Given the description of an element on the screen output the (x, y) to click on. 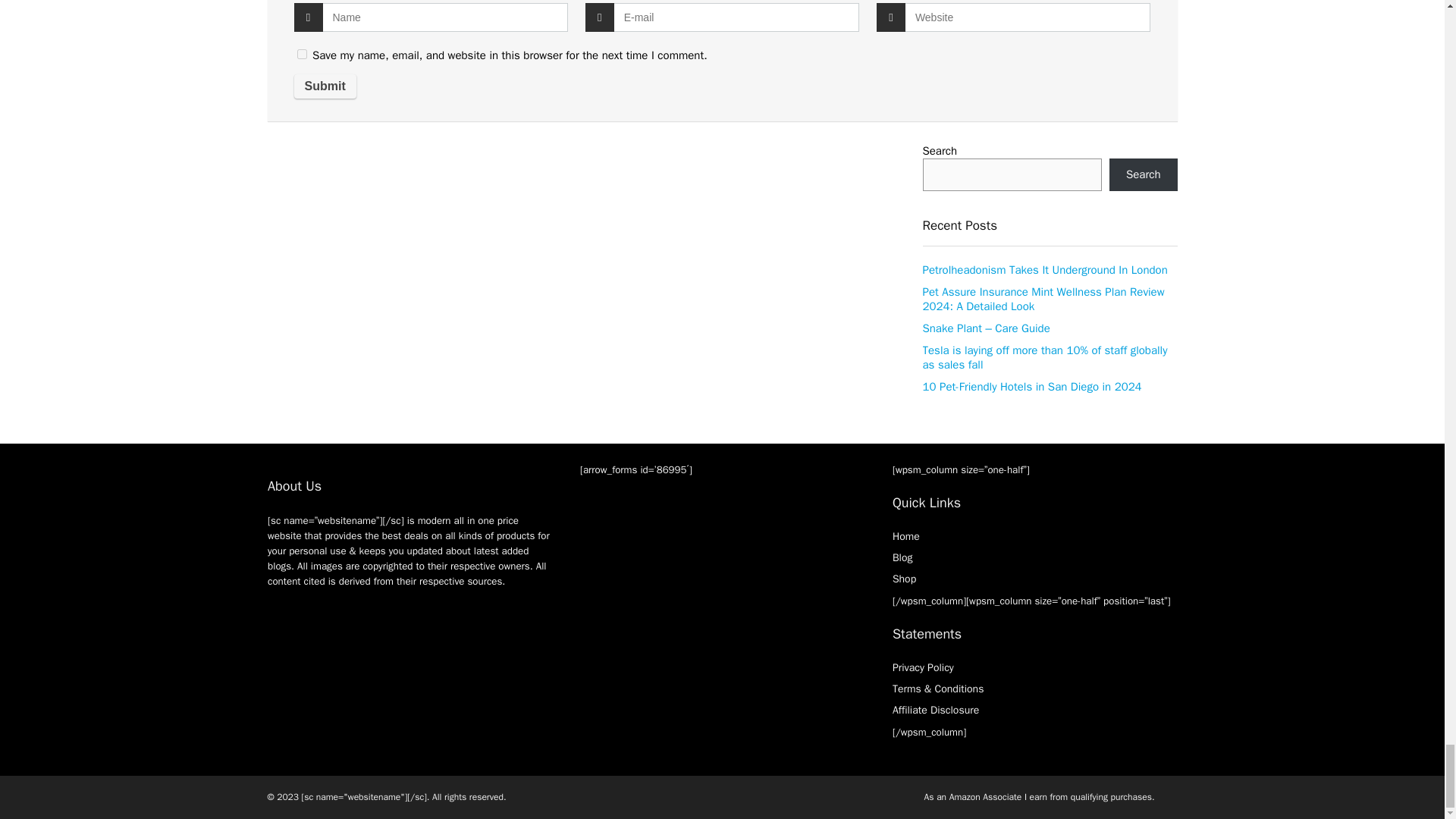
Submit (325, 86)
Search (1143, 174)
Submit (325, 86)
yes (302, 53)
10 Pet-Friendly Hotels in San Diego in 2024 (1031, 386)
Petrolheadonism Takes It Underground In London (1044, 269)
